Given the description of an element on the screen output the (x, y) to click on. 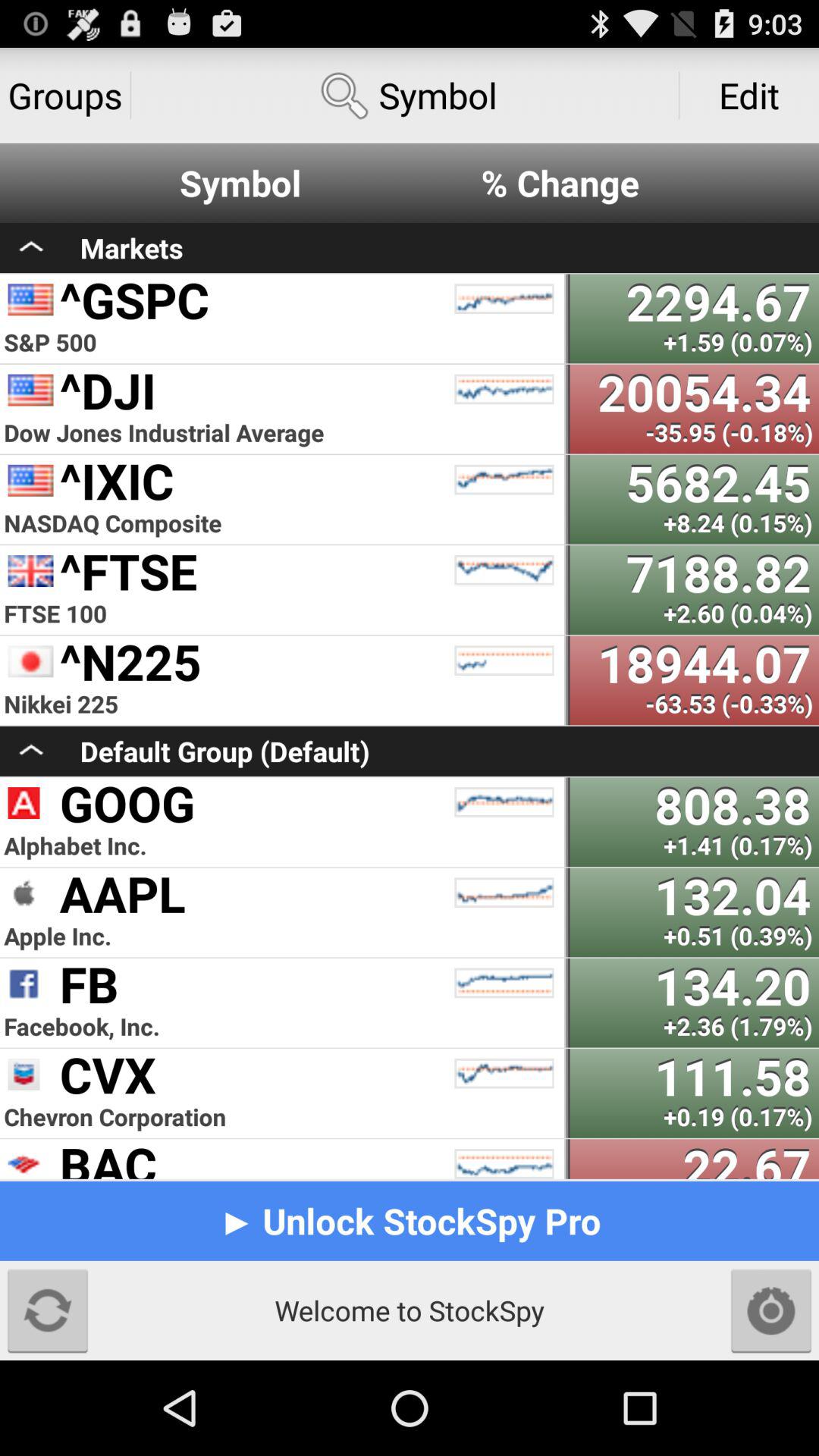
refresh screen (47, 1310)
